Given the description of an element on the screen output the (x, y) to click on. 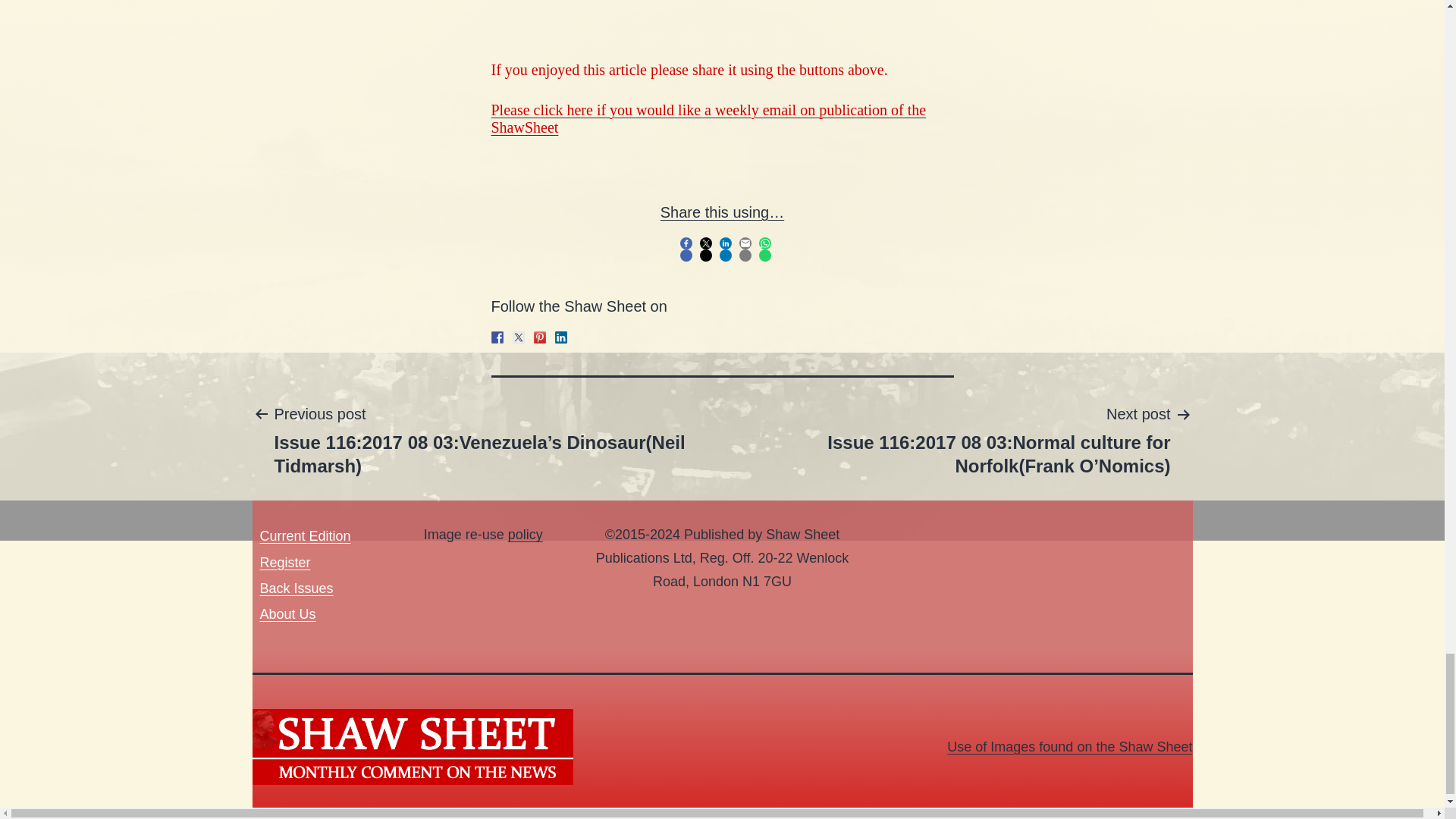
Find us on Linkedin (560, 337)
Follow us on Twitter (518, 337)
Follow us on Facebook (497, 337)
Shaw Sheet board on Pinterest (540, 337)
